Given the description of an element on the screen output the (x, y) to click on. 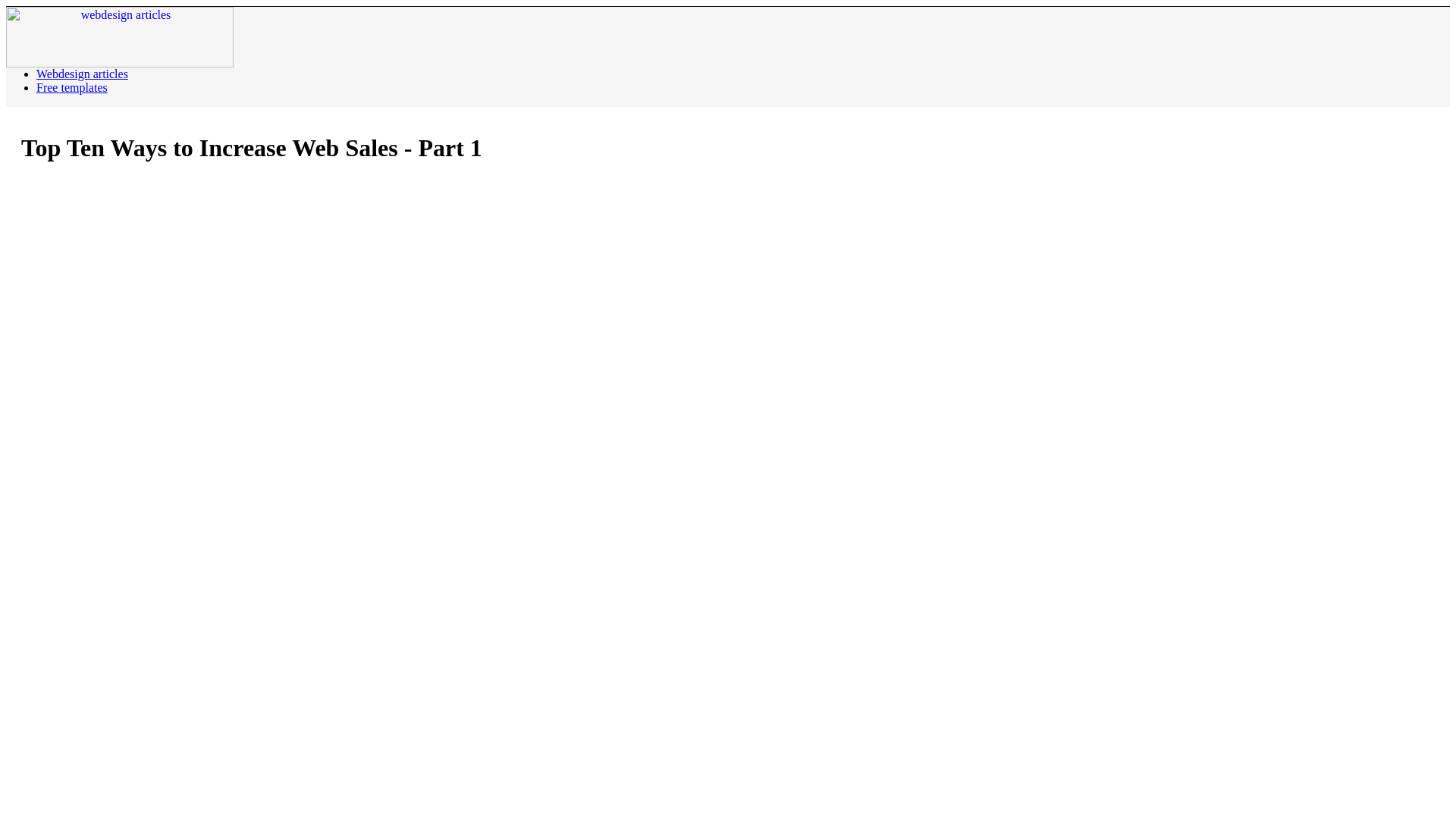
Free templates (71, 87)
544 articles (82, 73)
Free templates (71, 87)
Webdesign articles (82, 73)
